Given the description of an element on the screen output the (x, y) to click on. 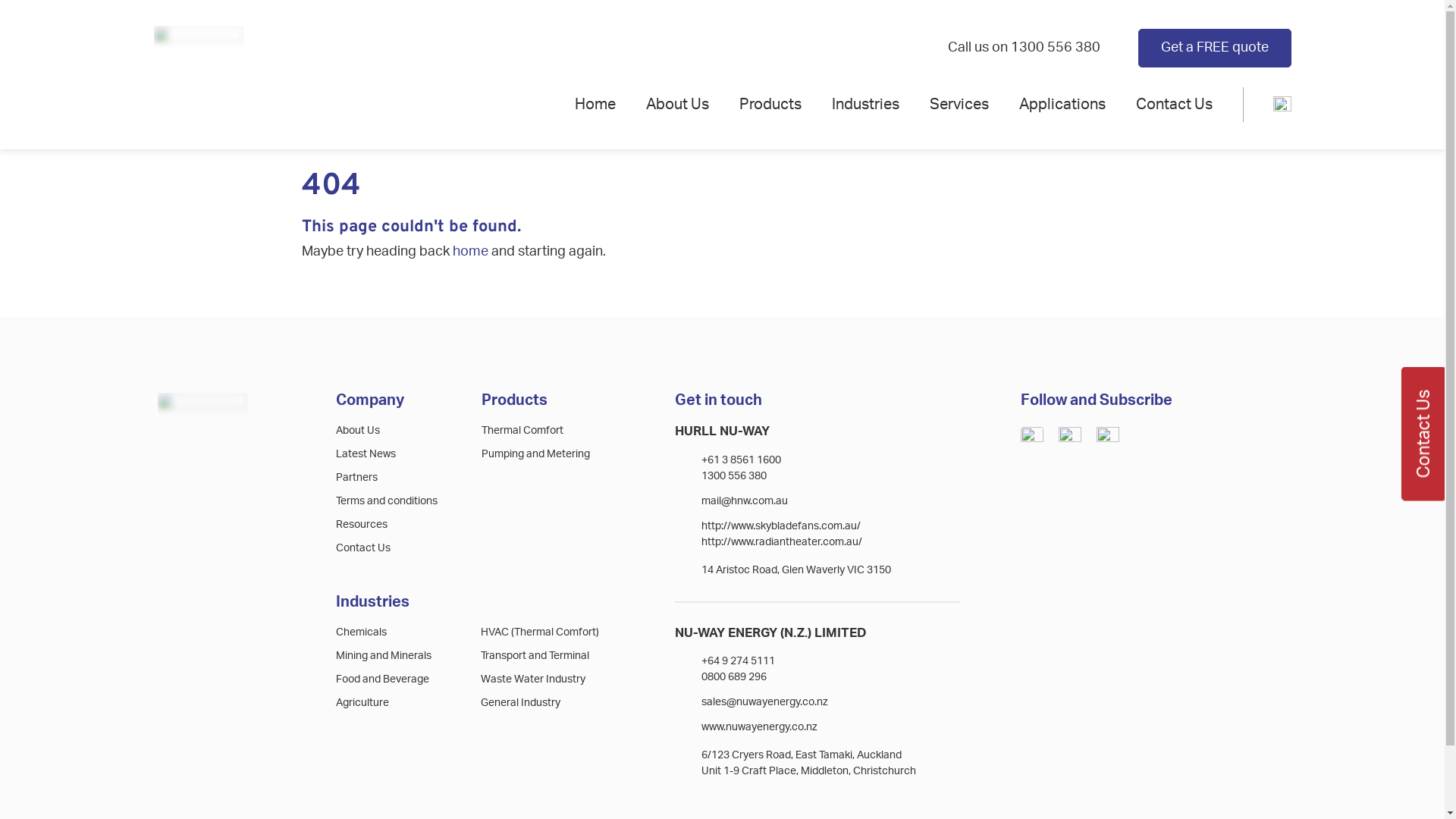
Home Element type: text (594, 104)
http://www.skybladefans.com.au/ Element type: text (780, 525)
http://www.radiantheater.com.au/ Element type: text (781, 541)
Terms and conditions Element type: text (386, 500)
mail@hnw.com.au Element type: text (744, 500)
General Industry Element type: text (520, 702)
Mining and Minerals Element type: text (383, 655)
Resources Element type: text (361, 524)
1300 556 380 Element type: text (733, 475)
Chemicals Element type: text (360, 632)
Food and Beverage Element type: text (382, 679)
Pumping and Metering Element type: text (535, 453)
Thermal Comfort Element type: text (522, 430)
Get a FREE quote Element type: text (1213, 47)
Contact Us Element type: text (362, 547)
Contact Us Element type: text (1173, 104)
About Us Element type: text (357, 430)
Agriculture Element type: text (362, 702)
About Us Element type: text (677, 104)
HVAC (Thermal Comfort) Element type: text (539, 632)
sales@nuwayenergy.co.nz Element type: text (764, 701)
0800 689 296 Element type: text (733, 676)
+61 3 8561 1600 Element type: text (741, 460)
Industries Element type: text (864, 104)
Products Element type: text (769, 104)
home Element type: text (469, 251)
www.nuwayenergy.co.nz Element type: text (759, 726)
1300 556 380 Element type: text (1054, 47)
Services Element type: text (958, 104)
Waste Water Industry Element type: text (532, 679)
Latest News Element type: text (365, 453)
Transport and Terminal Element type: text (534, 655)
Applications Element type: text (1062, 104)
Partners Element type: text (356, 477)
+64 9 274 5111 Element type: text (738, 660)
